Given the description of an element on the screen output the (x, y) to click on. 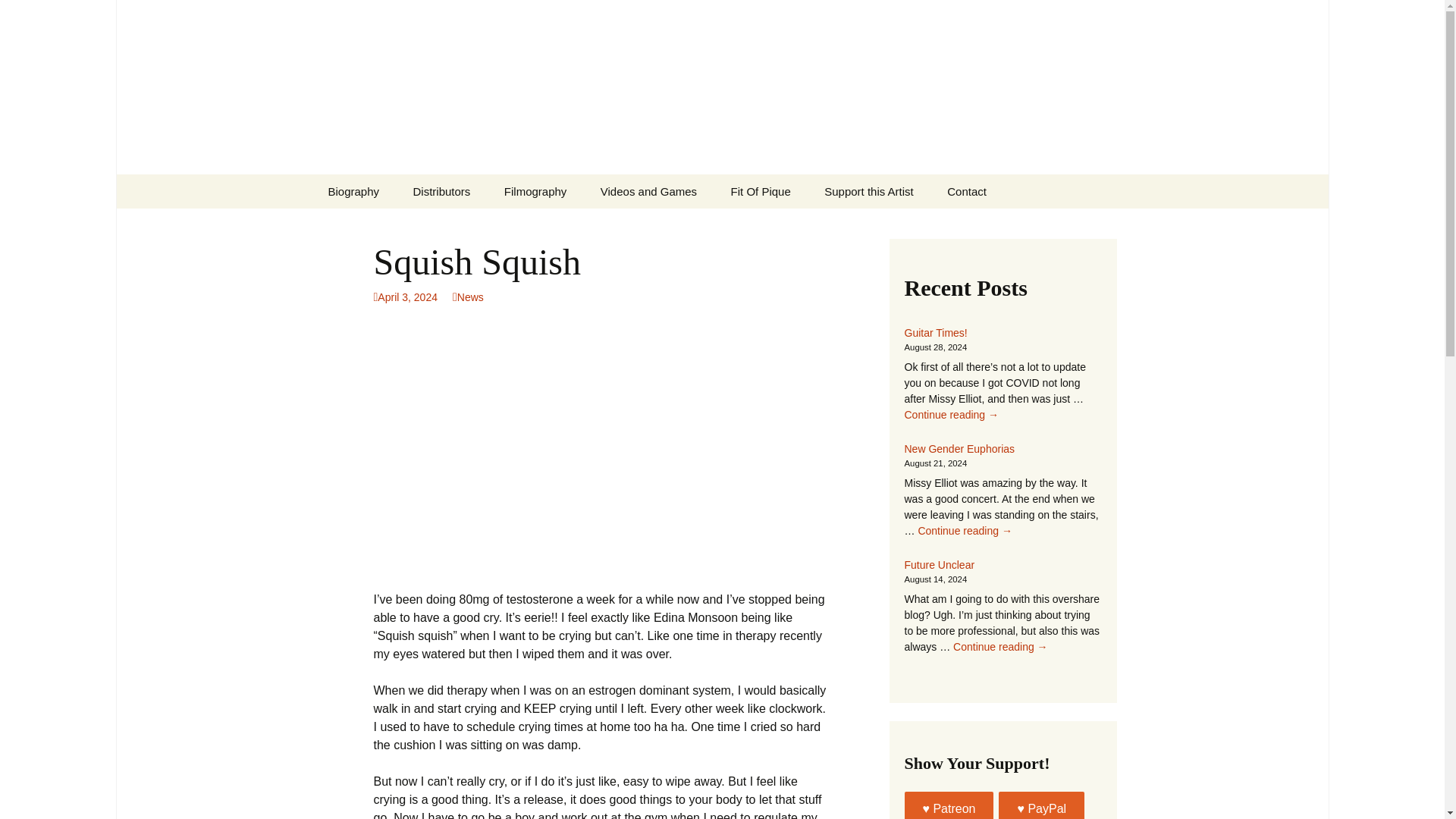
Search (18, 15)
Fit Of Pique (761, 191)
News (467, 297)
YouTube video player (584, 447)
Filmography (535, 191)
Support this Artist (868, 191)
Future Unclear (939, 564)
Biography (353, 191)
April 3, 2024 (404, 297)
Guitar Times! (935, 332)
